Given the description of an element on the screen output the (x, y) to click on. 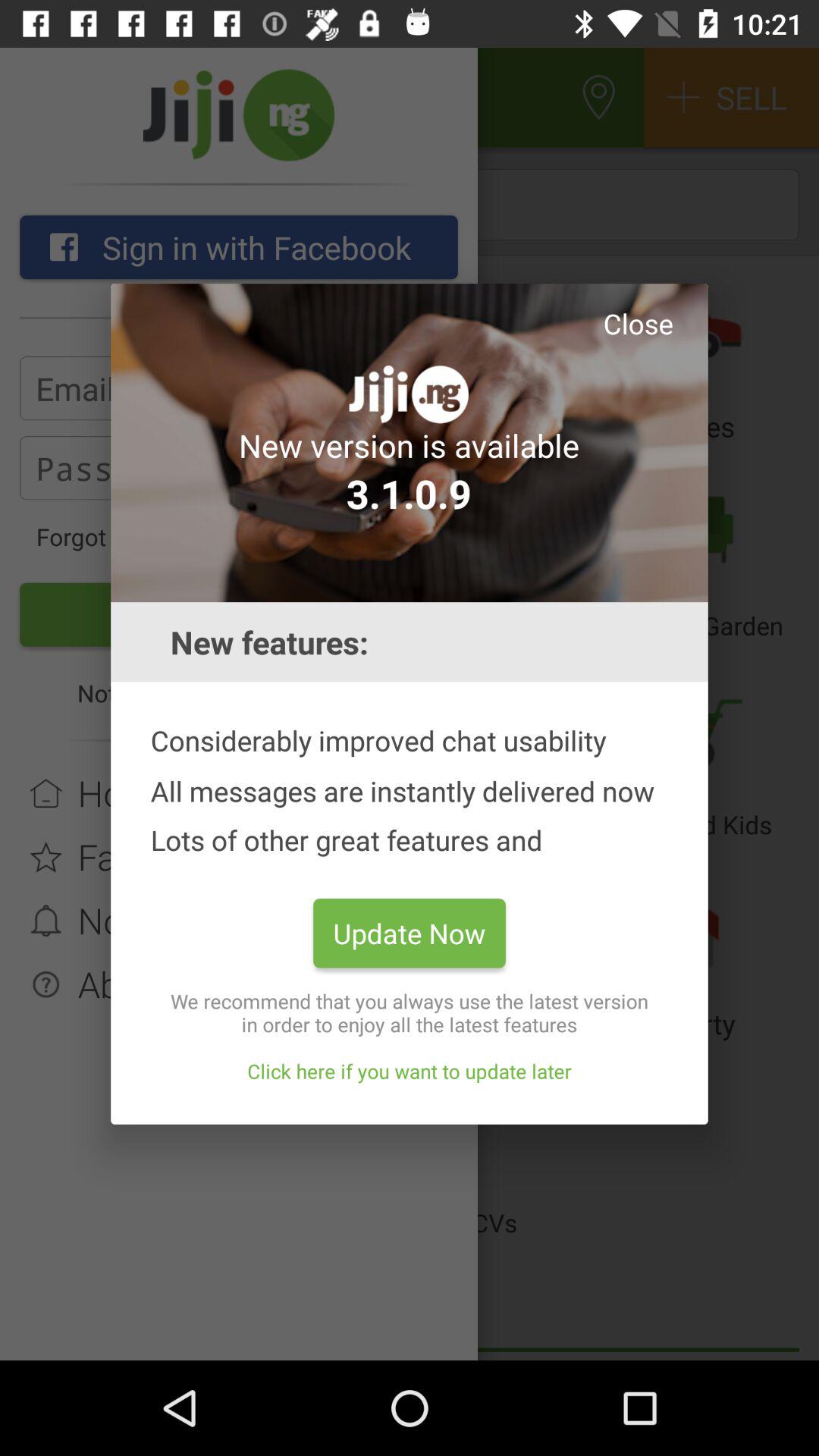
select the item below considerably improved chat app (409, 933)
